Given the description of an element on the screen output the (x, y) to click on. 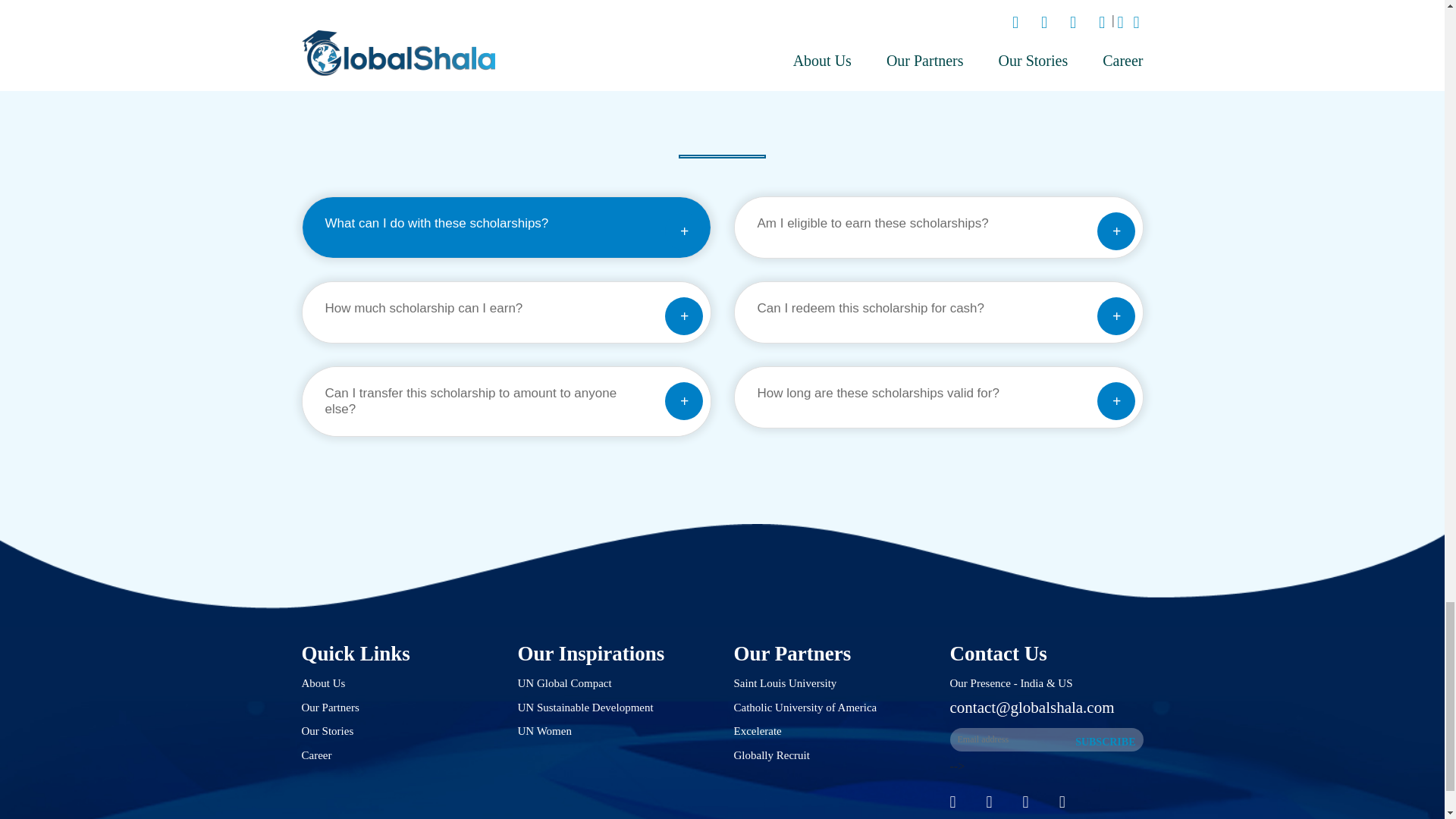
Subscribe (1104, 741)
